Given the description of an element on the screen output the (x, y) to click on. 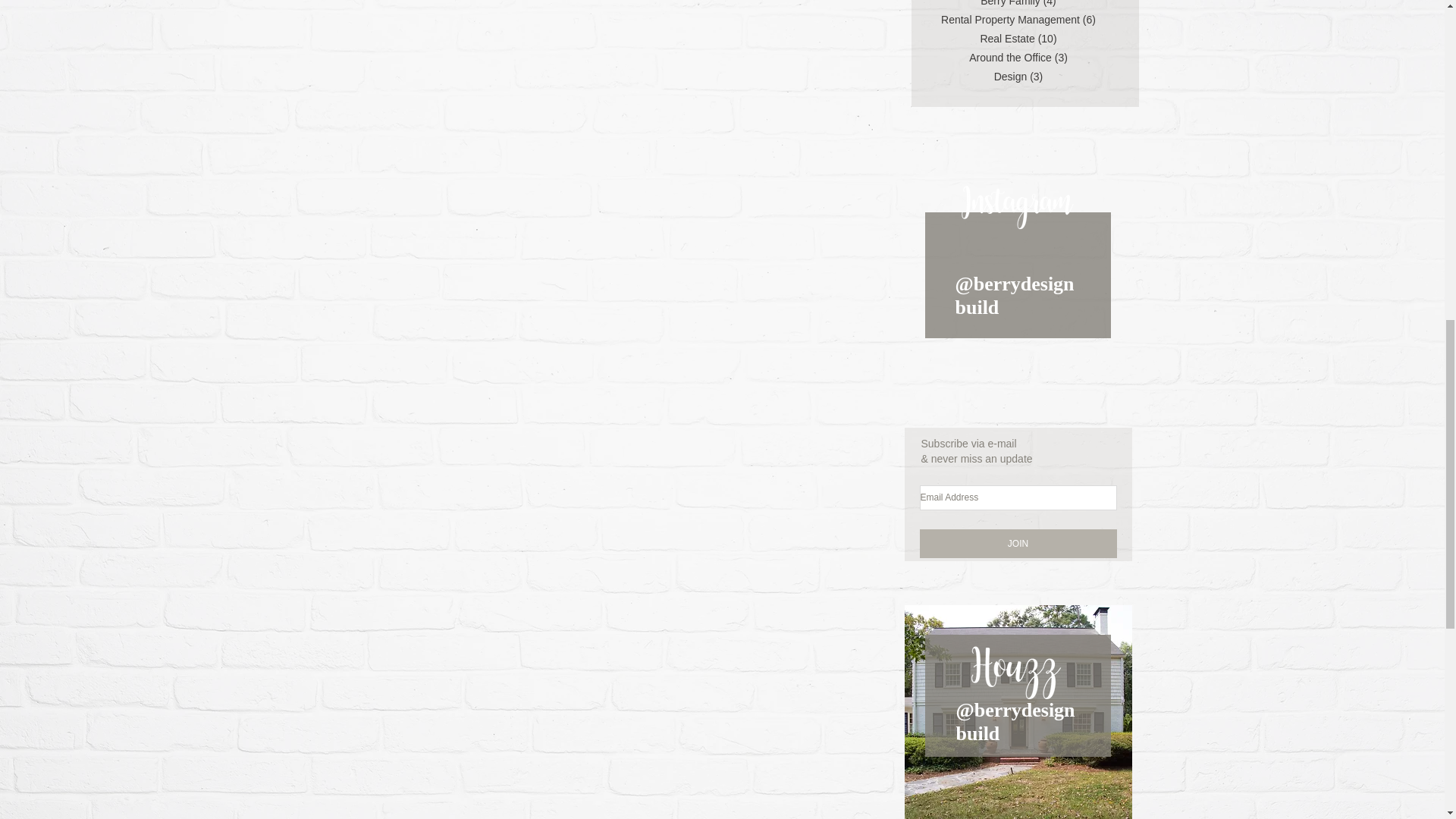
JOIN (1017, 543)
